Given the description of an element on the screen output the (x, y) to click on. 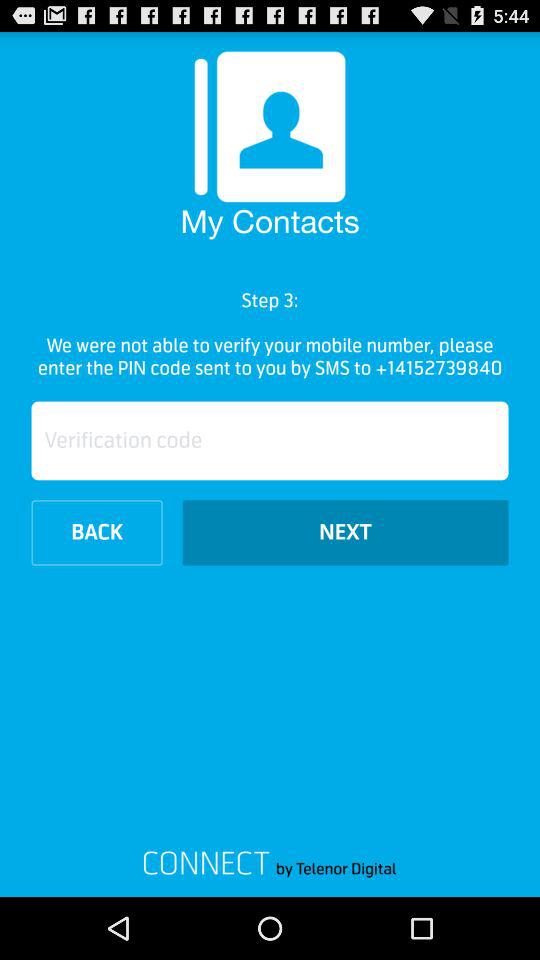
turn off the icon above the back item (269, 440)
